Given the description of an element on the screen output the (x, y) to click on. 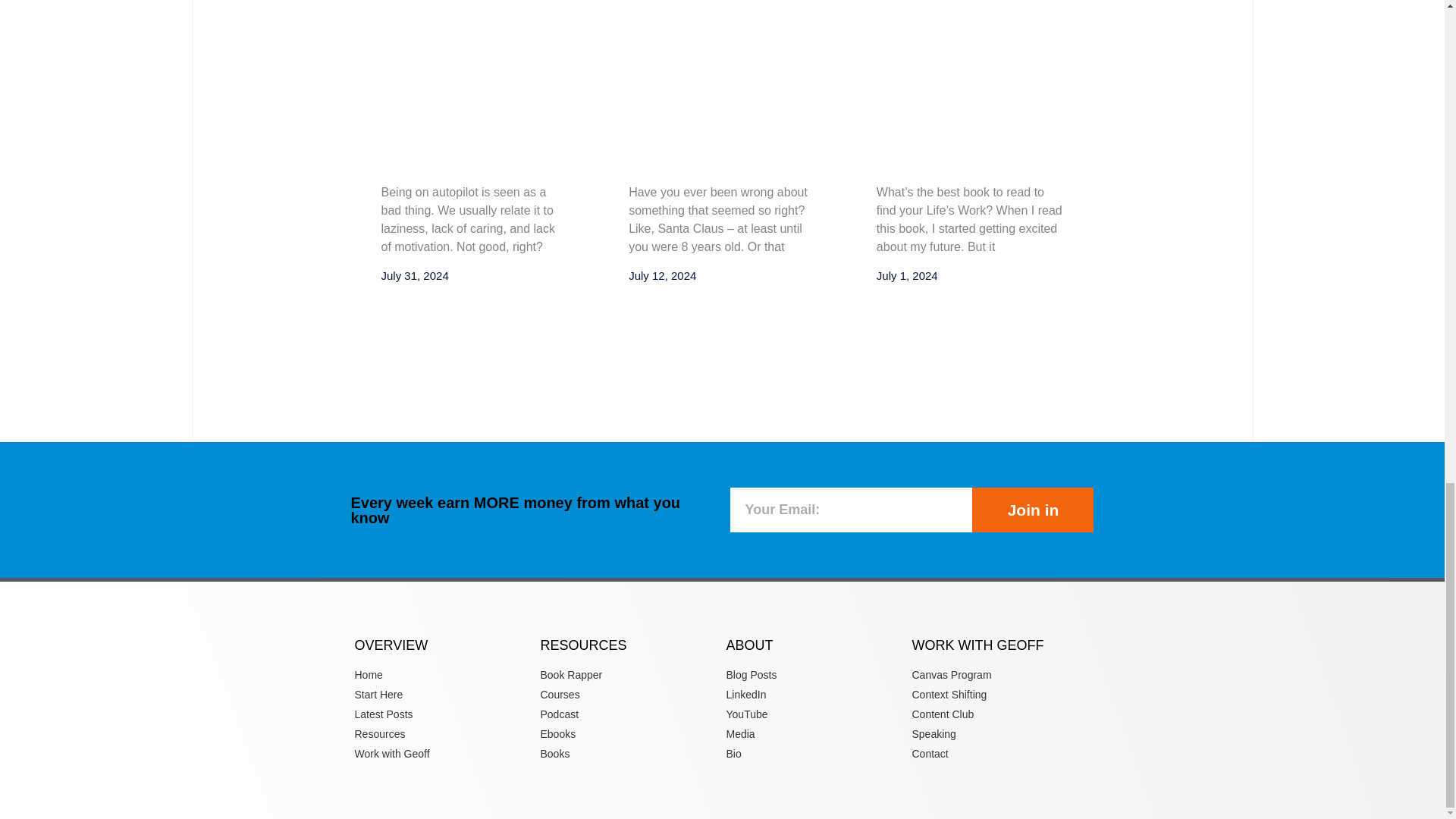
Context Shifting (1000, 694)
Courses (628, 694)
Canvas Program (1000, 675)
Media (815, 734)
Books (628, 754)
YouTube (815, 714)
Bio (815, 754)
LinkedIn (815, 694)
Home (443, 675)
Start Here (443, 694)
